Given the description of an element on the screen output the (x, y) to click on. 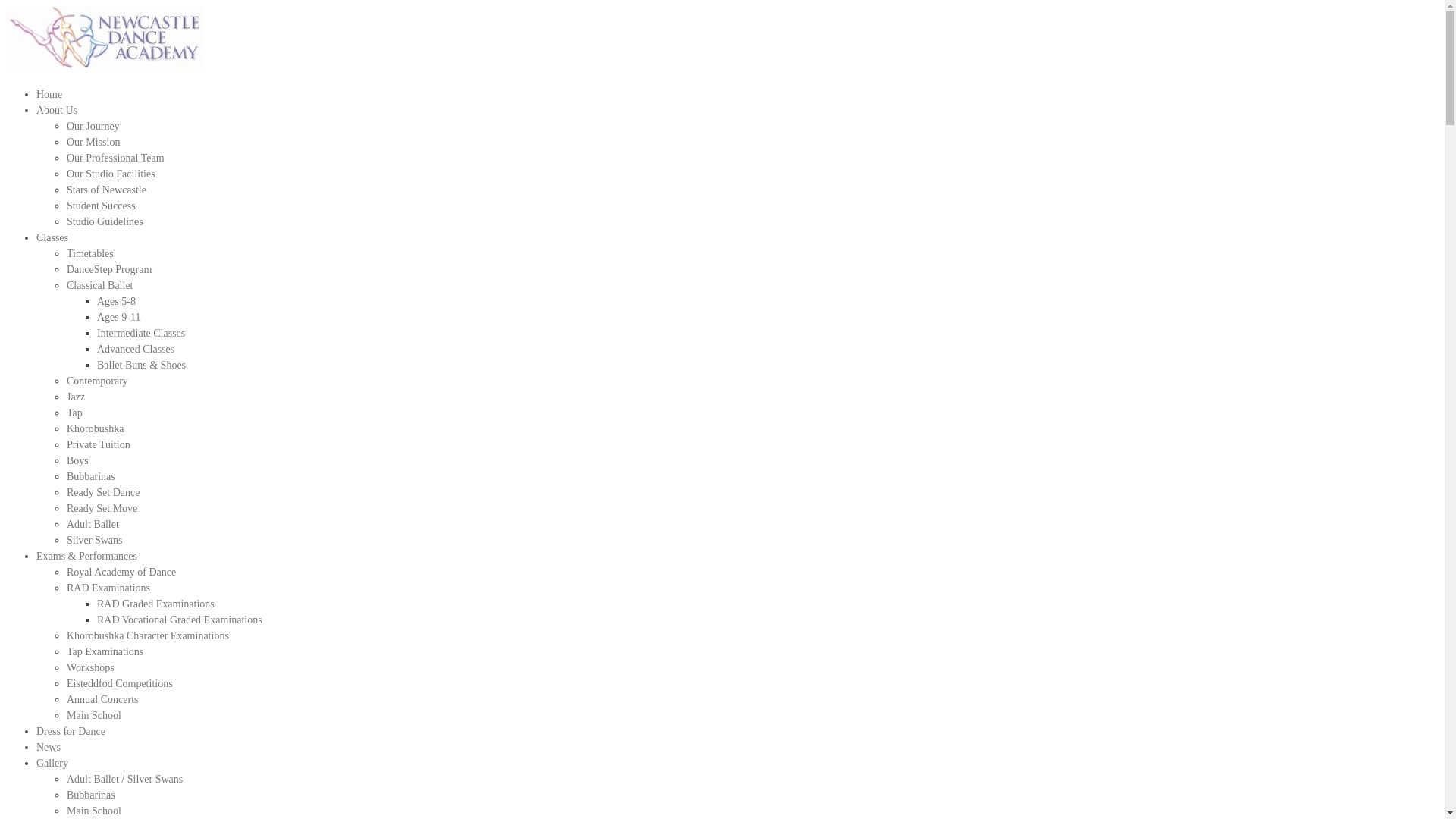
Main School Element type: text (93, 810)
Private Tuition Element type: text (98, 444)
Ready Set Dance Element type: text (102, 492)
RAD Examinations Element type: text (108, 587)
Ballet Buns & Shoes Element type: text (141, 364)
Silver Swans Element type: text (94, 540)
About Us Element type: text (56, 110)
Boys Element type: text (77, 460)
Tap Element type: text (74, 412)
NDA-Logo (2) Element type: hover (104, 38)
RAD Graded Examinations Element type: text (155, 603)
RAD Vocational Graded Examinations Element type: text (179, 619)
Royal Academy of Dance Element type: text (120, 571)
Our Mission Element type: text (92, 141)
Advanced Classes Element type: text (135, 348)
Ages 5-8 Element type: text (116, 301)
News Element type: text (48, 747)
Dress for Dance Element type: text (70, 731)
Adult Ballet Element type: text (92, 524)
Annual Concerts Element type: text (102, 699)
Our Studio Facilities Element type: text (110, 173)
Student Success Element type: text (100, 205)
Intermediate Classes Element type: text (141, 332)
Workshops Element type: text (90, 667)
Home Element type: text (49, 94)
Bubbarinas Element type: text (90, 794)
Stars of Newcastle Element type: text (106, 189)
Adult Ballet / Silver Swans Element type: text (124, 778)
Main School Element type: text (93, 715)
Exams & Performances Element type: text (86, 555)
DanceStep Program Element type: text (108, 269)
Tap Examinations Element type: text (104, 651)
Eisteddfod Competitions Element type: text (119, 683)
Ready Set Move Element type: text (101, 508)
Timetables Element type: text (89, 253)
Ages 9-11 Element type: text (118, 317)
Khorobushka Character Examinations Element type: text (147, 635)
Classes Element type: text (52, 237)
Bubbarinas Element type: text (90, 476)
Classical Ballet Element type: text (99, 285)
Our Professional Team Element type: text (115, 157)
Jazz Element type: text (75, 396)
Khorobushka Element type: text (94, 428)
Our Journey Element type: text (92, 125)
Studio Guidelines Element type: text (104, 221)
Gallery Element type: text (52, 762)
Contemporary Element type: text (97, 380)
